Given the description of an element on the screen output the (x, y) to click on. 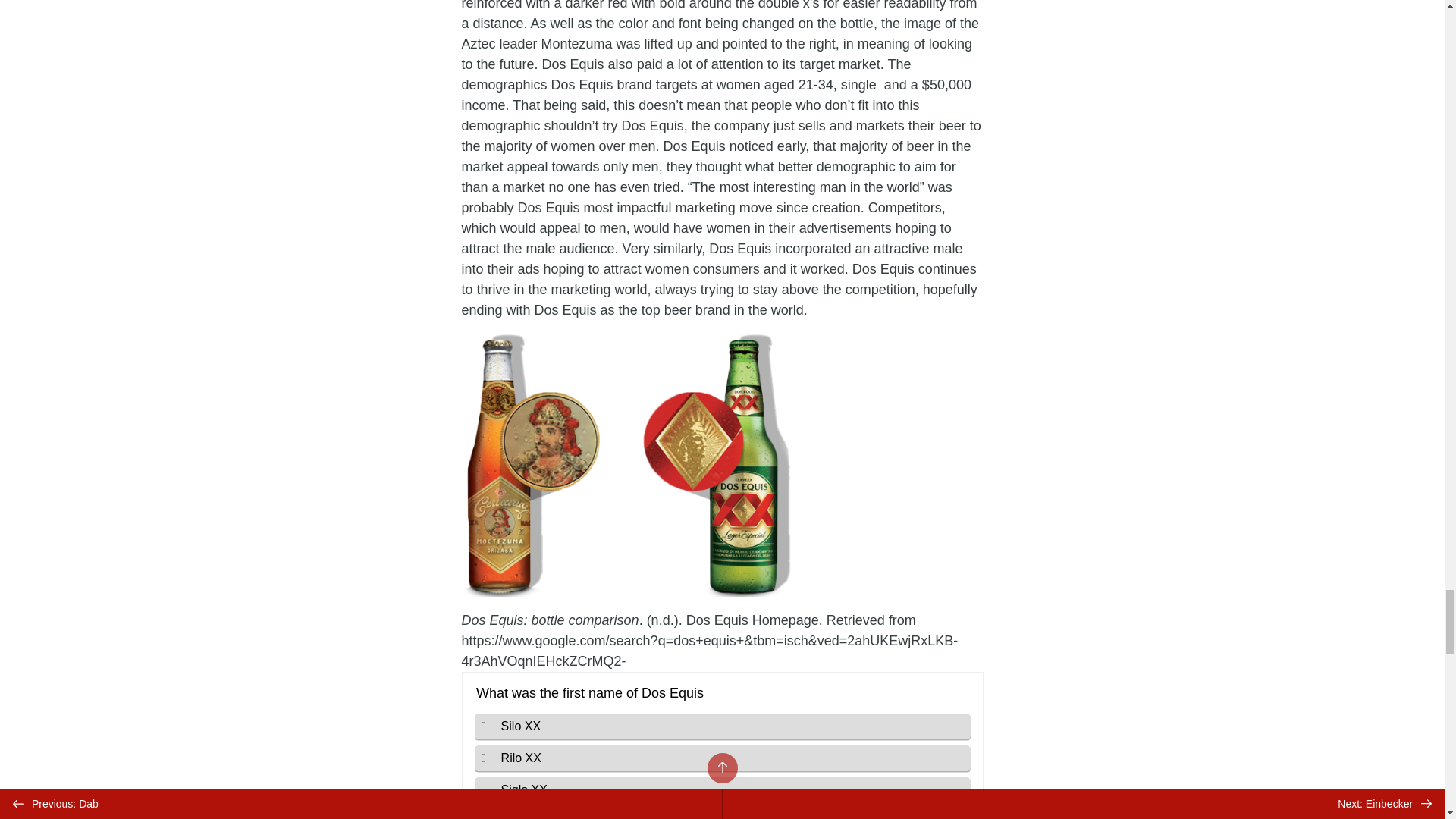
Knowledge Check (721, 745)
